Given the description of an element on the screen output the (x, y) to click on. 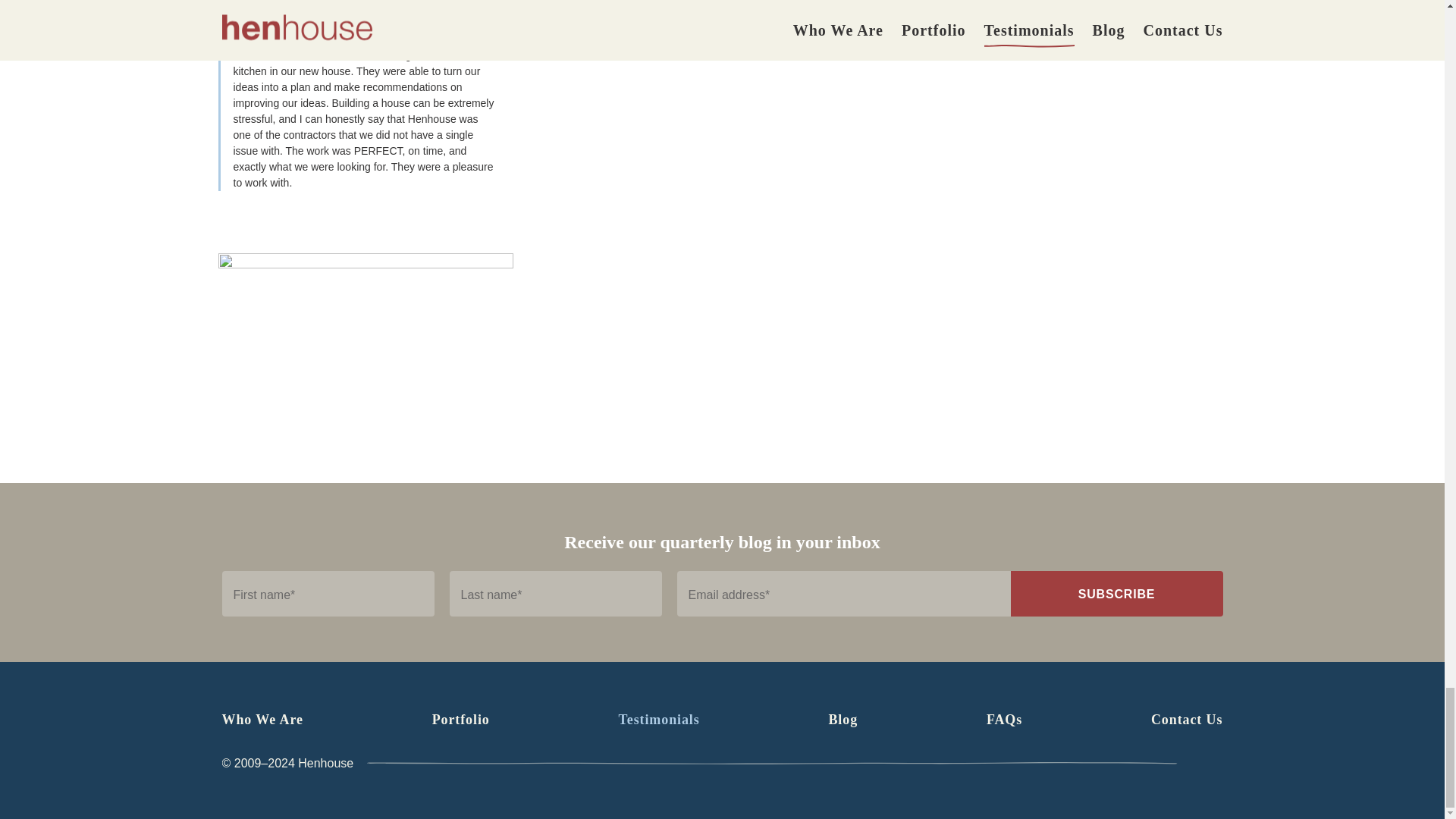
Blog (842, 719)
Who We Are (261, 719)
Subscribe (1116, 593)
Portfolio (460, 719)
Contact Us (1187, 719)
Testimonials (659, 719)
FAQs (1004, 719)
Subscribe (1116, 593)
